Given the description of an element on the screen output the (x, y) to click on. 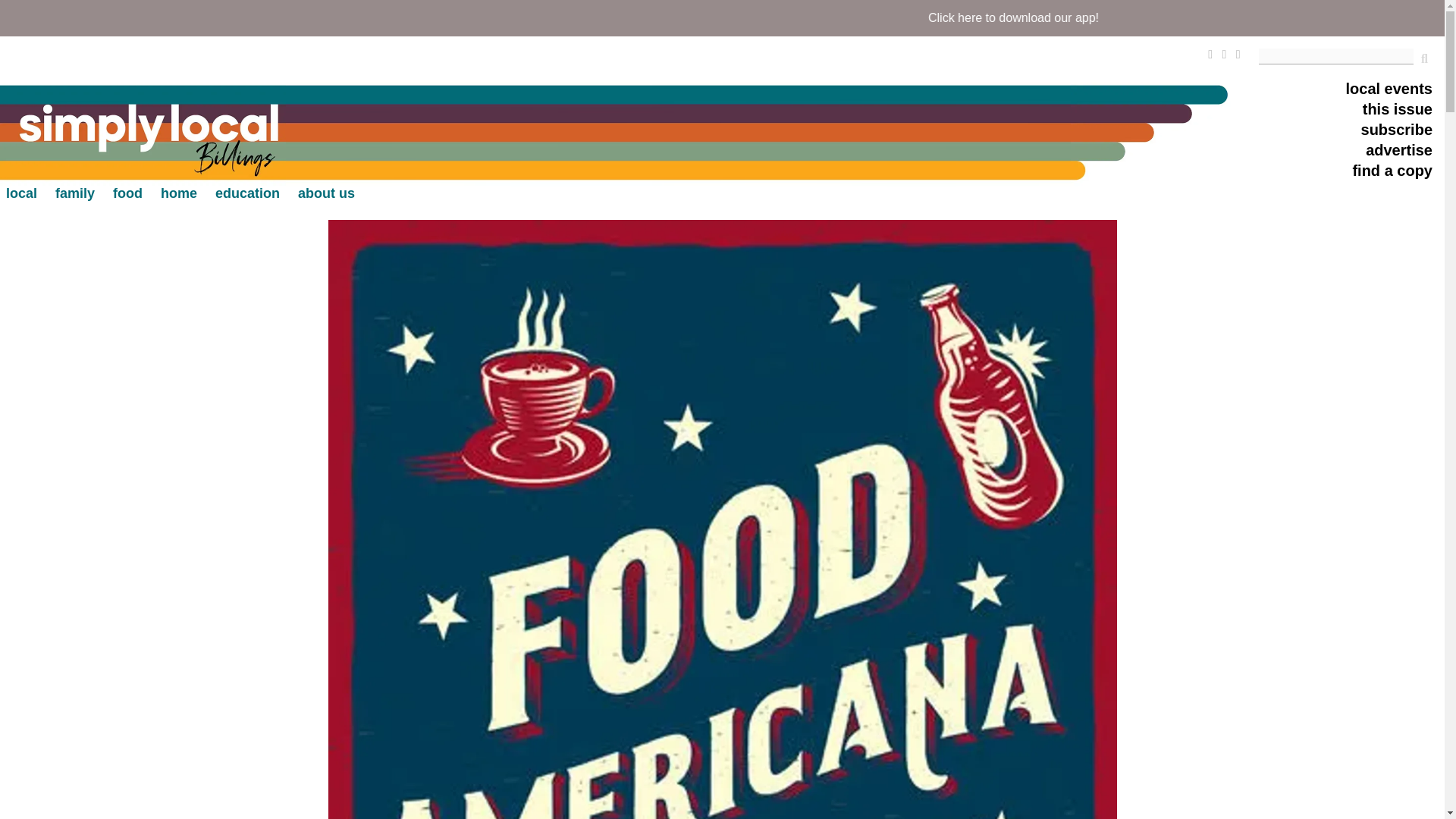
local events (1388, 90)
this issue (1397, 110)
subscribe (1396, 131)
local (21, 192)
home (178, 192)
education (247, 192)
about us (326, 192)
find a copy (1392, 172)
advertise (1398, 151)
food (127, 192)
family (74, 192)
